Given the description of an element on the screen output the (x, y) to click on. 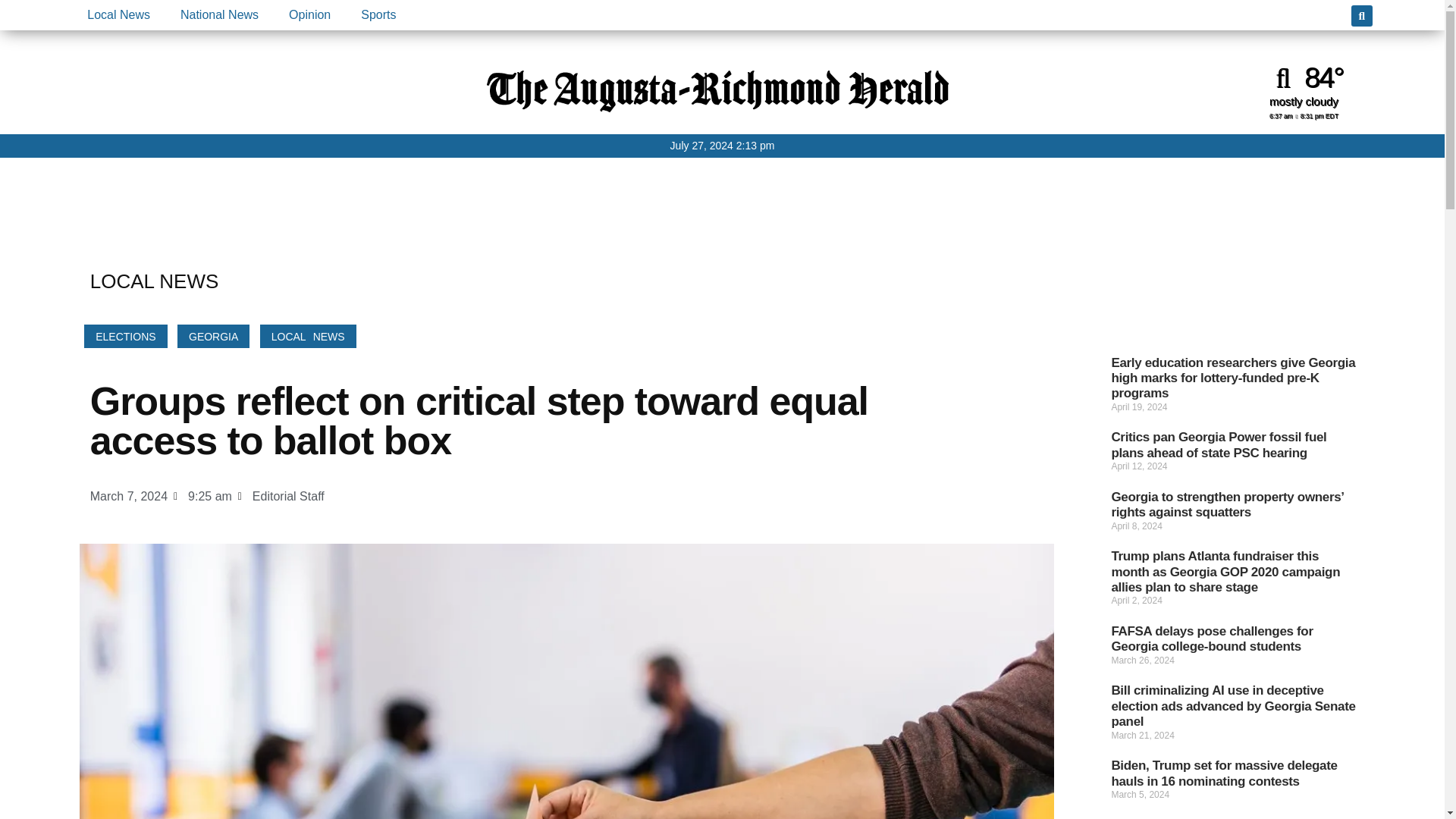
Local News (118, 14)
GEORGIA (212, 336)
LOCAL NEWS (308, 336)
ELECTIONS (125, 336)
Opinion (309, 14)
National News (219, 14)
Sports (378, 14)
